Given the description of an element on the screen output the (x, y) to click on. 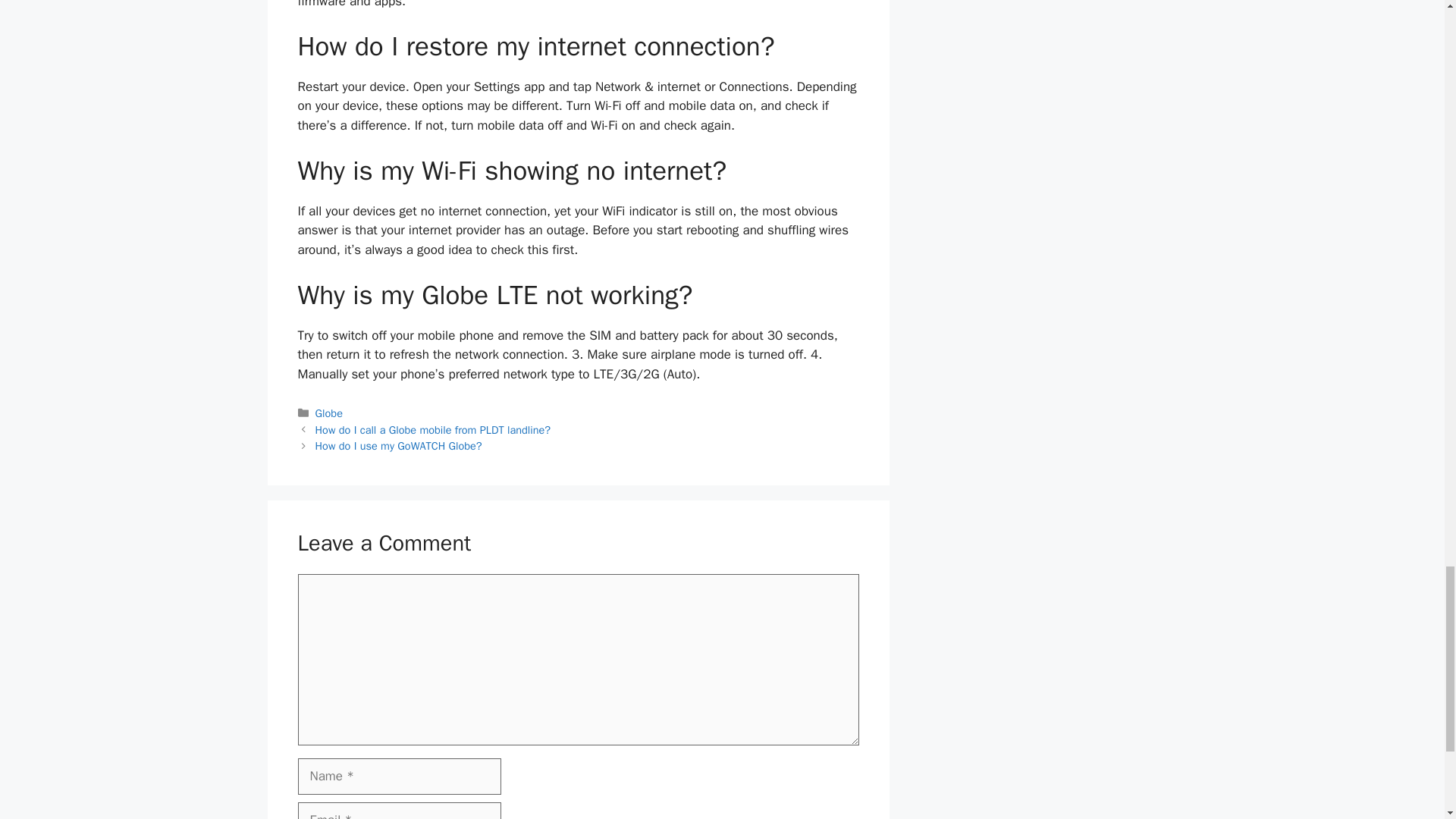
How do I use my GoWATCH Globe? (398, 445)
How do I call a Globe mobile from PLDT landline? (433, 429)
Globe (328, 413)
